Given the description of an element on the screen output the (x, y) to click on. 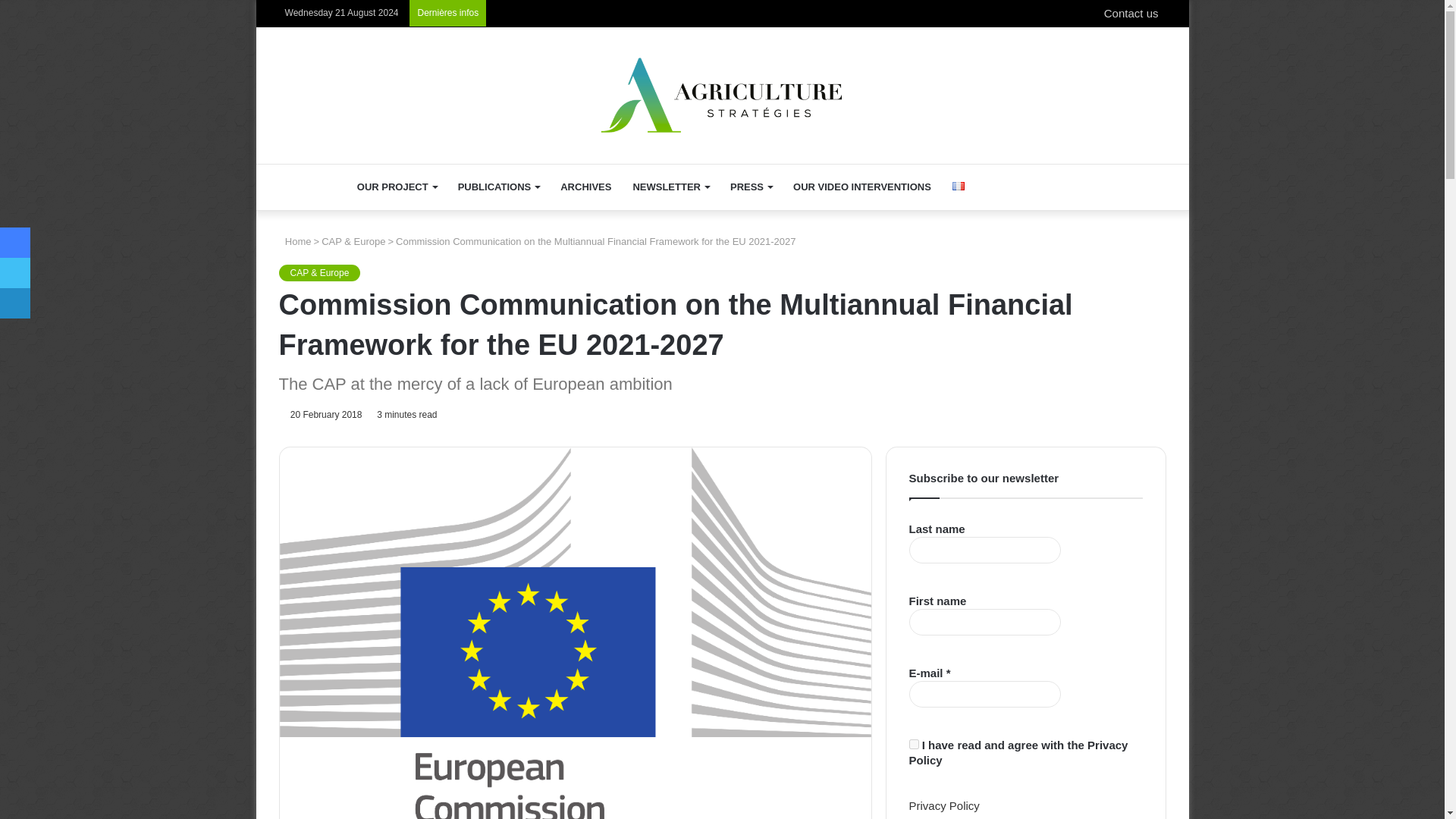
Twitter (15, 272)
PRESS (751, 186)
1 (913, 744)
Home (295, 241)
Last name (984, 550)
PUBLICATIONS (498, 186)
NEWSLETTER (670, 186)
E-mail (984, 693)
ARCHIVES (585, 186)
Facebook (15, 242)
